Given the description of an element on the screen output the (x, y) to click on. 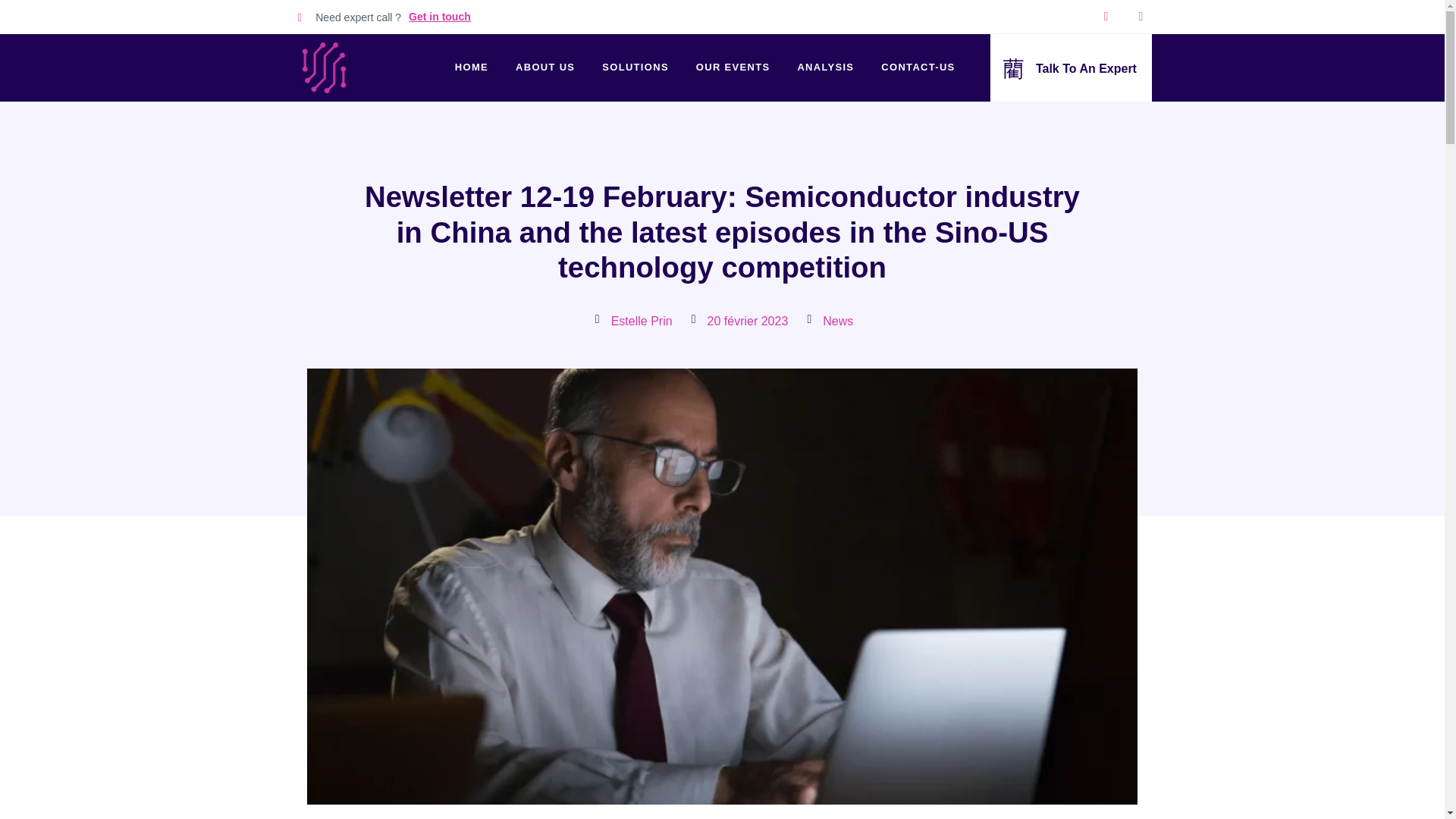
SOLUTIONS (635, 67)
ABOUT US (545, 67)
Get in touch (439, 16)
CONTACT-US (917, 67)
HOME (471, 67)
Talk To An Expert (1086, 68)
ANALYSIS (825, 67)
OUR EVENTS (733, 67)
